Given the description of an element on the screen output the (x, y) to click on. 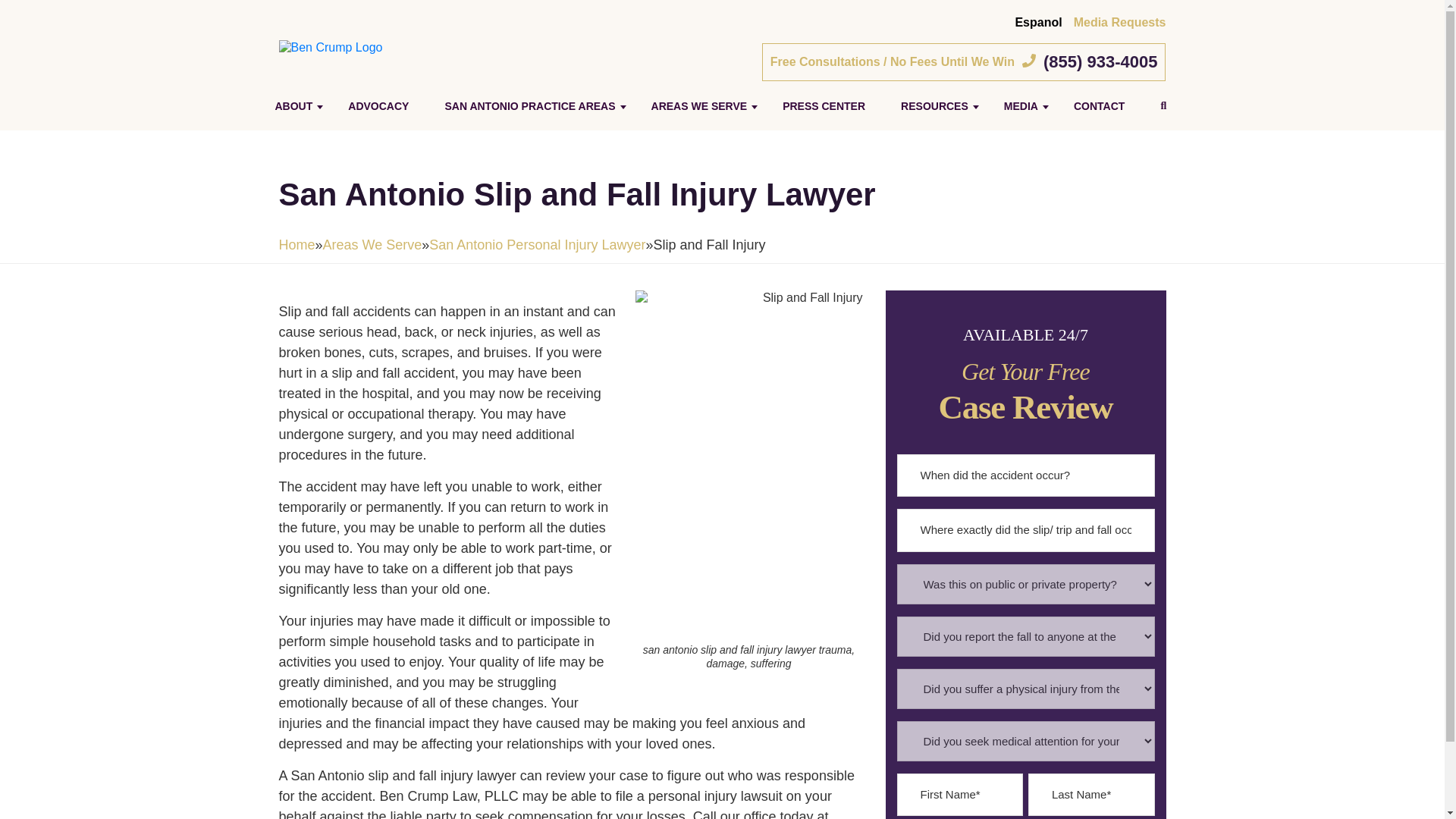
PRESS CENTER (823, 105)
Espanol (1037, 21)
RESOURCES (934, 105)
ABOUT (293, 105)
AREAS WE SERVE (699, 105)
Ben Crump Logo (330, 48)
SAN ANTONIO PRACTICE AREAS (529, 105)
MEDIA (1020, 105)
ADVOCACY (378, 105)
Media Requests (1120, 21)
Ben Crump - Trial Lawyer for Justice (330, 47)
